Given the description of an element on the screen output the (x, y) to click on. 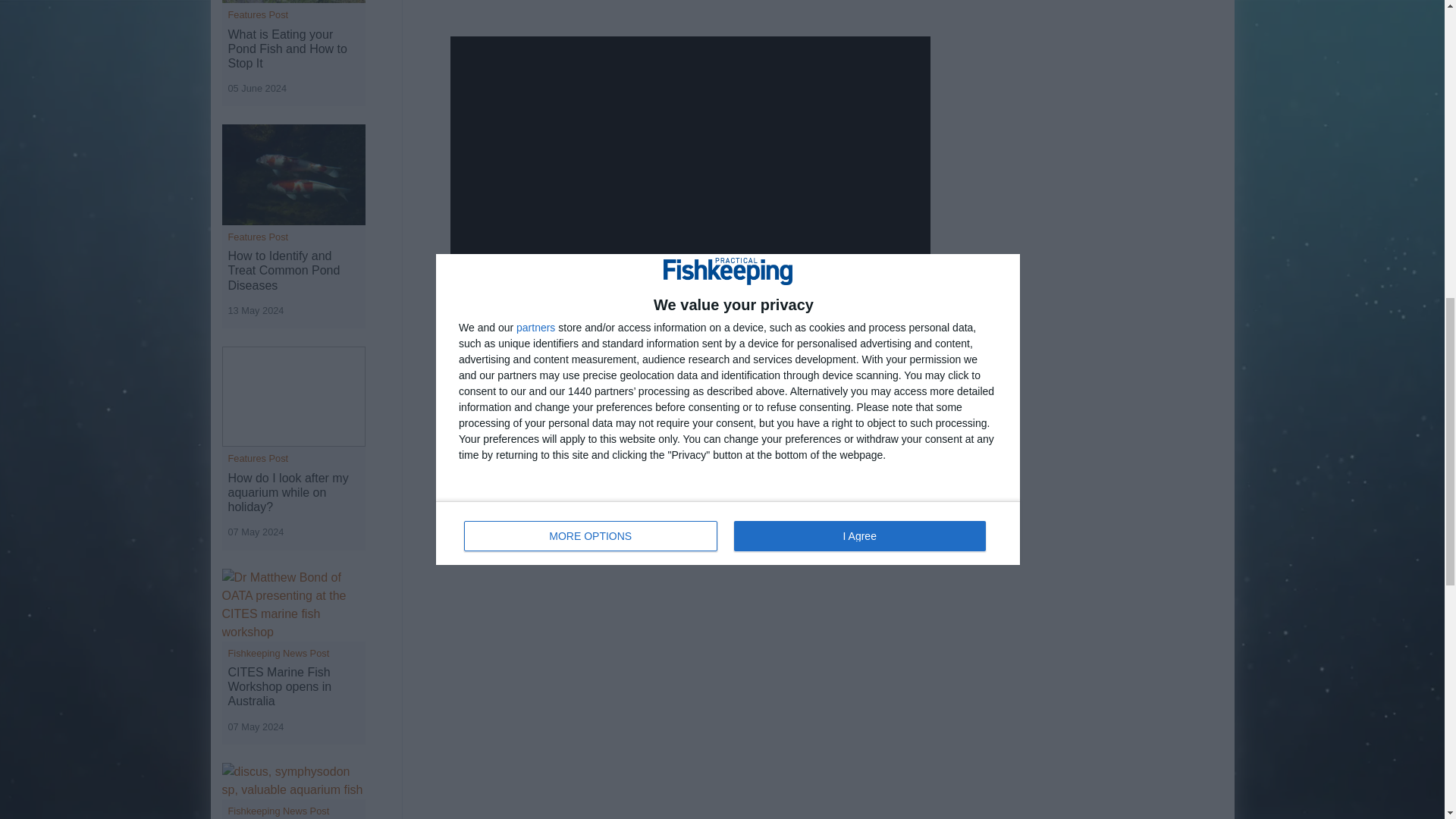
diseased pond fish, koi carp with ulcer disease (293, 174)
discus, symphysodon sp, valuable aquarium fish (293, 780)
